Given the description of an element on the screen output the (x, y) to click on. 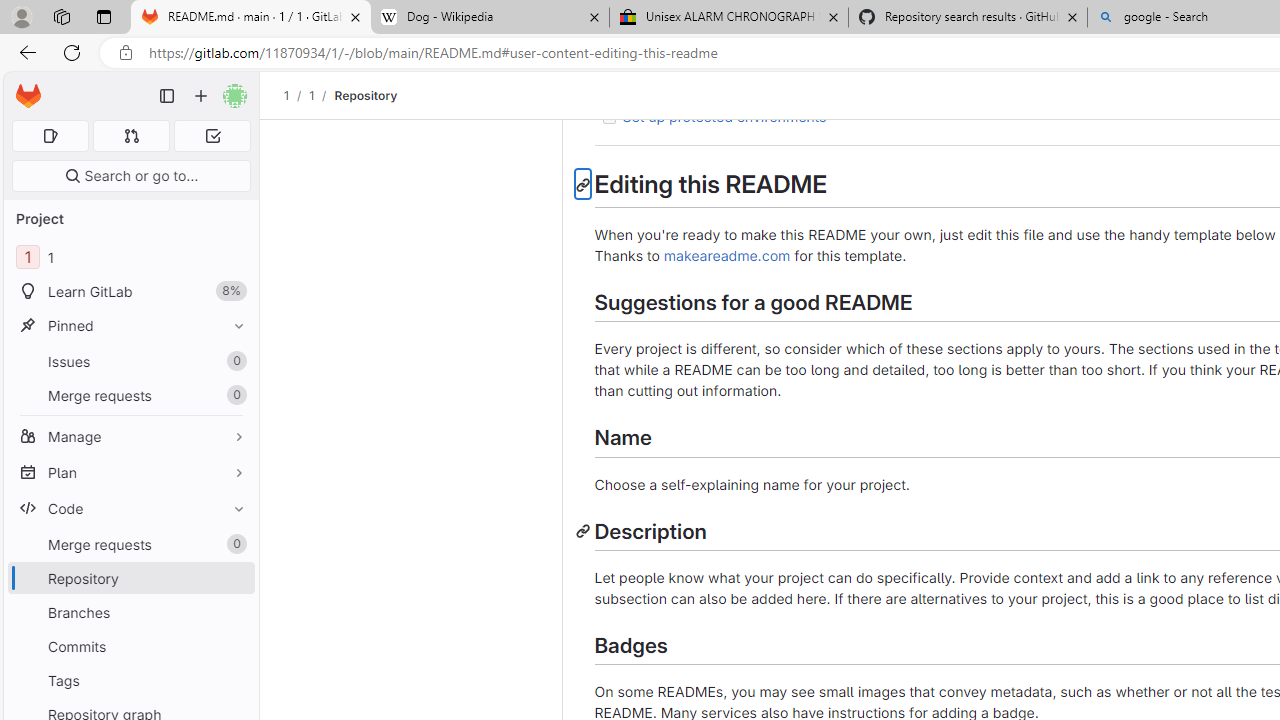
Merge requests 0 (130, 543)
To-Do list 0 (212, 136)
Code (130, 507)
Branches (130, 612)
1/ (321, 95)
1 1 (130, 257)
Pin Commits (234, 646)
1 (311, 95)
AutomationID: user-content-editing-this-readme (582, 184)
